Given the description of an element on the screen output the (x, y) to click on. 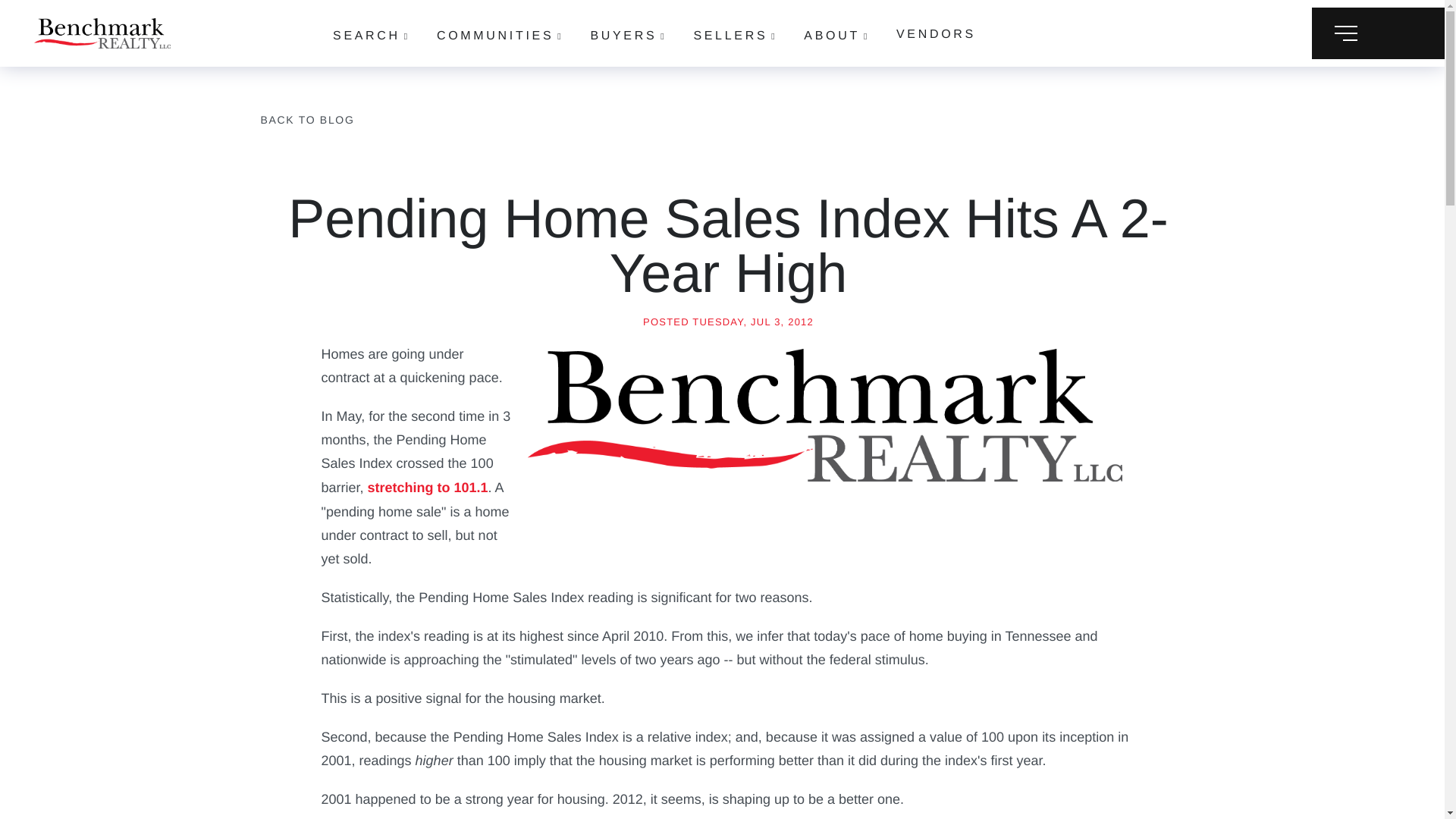
Pending Home Sales Index (824, 415)
ABOUT (836, 36)
SELLERS (735, 36)
SEARCH (371, 36)
VENDORS (935, 33)
BUYERS (627, 36)
Pending Home Sales Index (427, 487)
COMMUNITIES (499, 36)
